Given the description of an element on the screen output the (x, y) to click on. 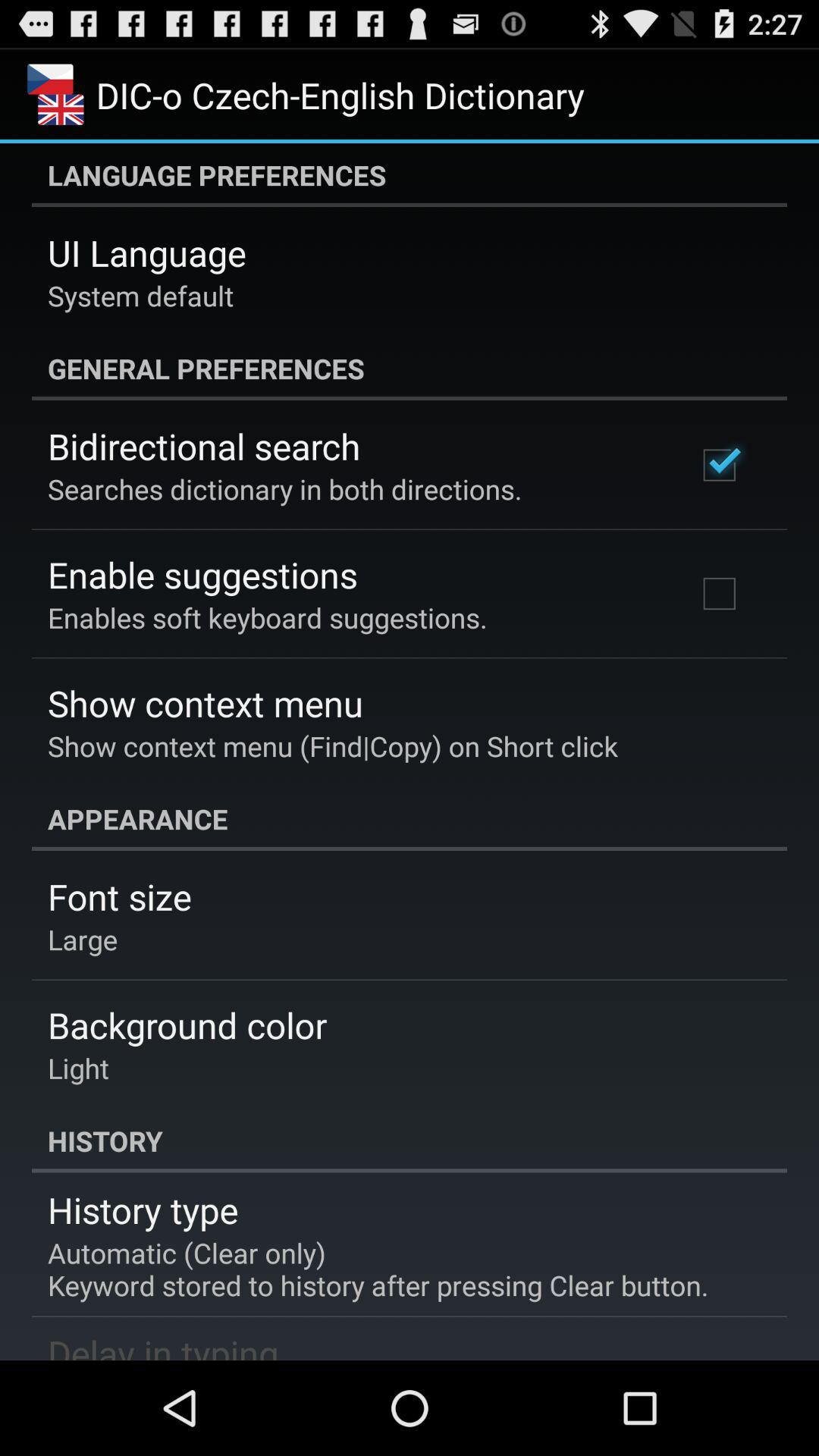
tap the app below the enable suggestions app (267, 617)
